Given the description of an element on the screen output the (x, y) to click on. 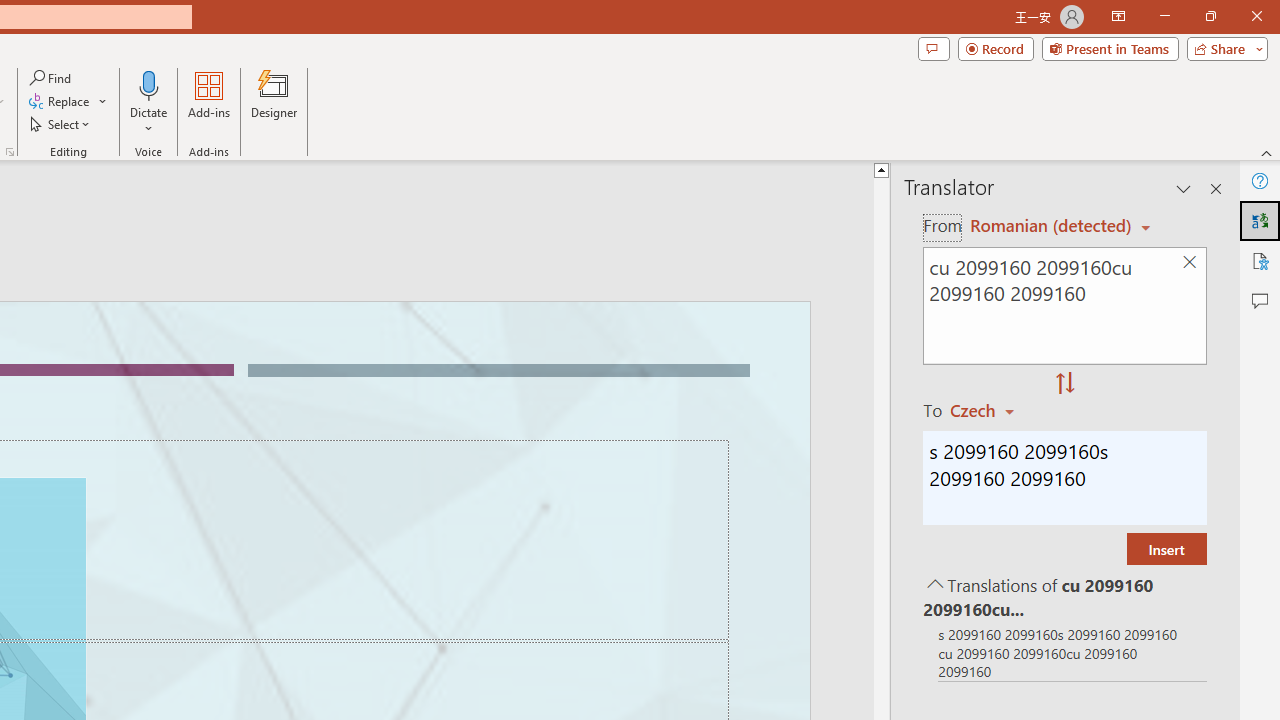
Czech (detected) (1047, 225)
